Given the description of an element on the screen output the (x, y) to click on. 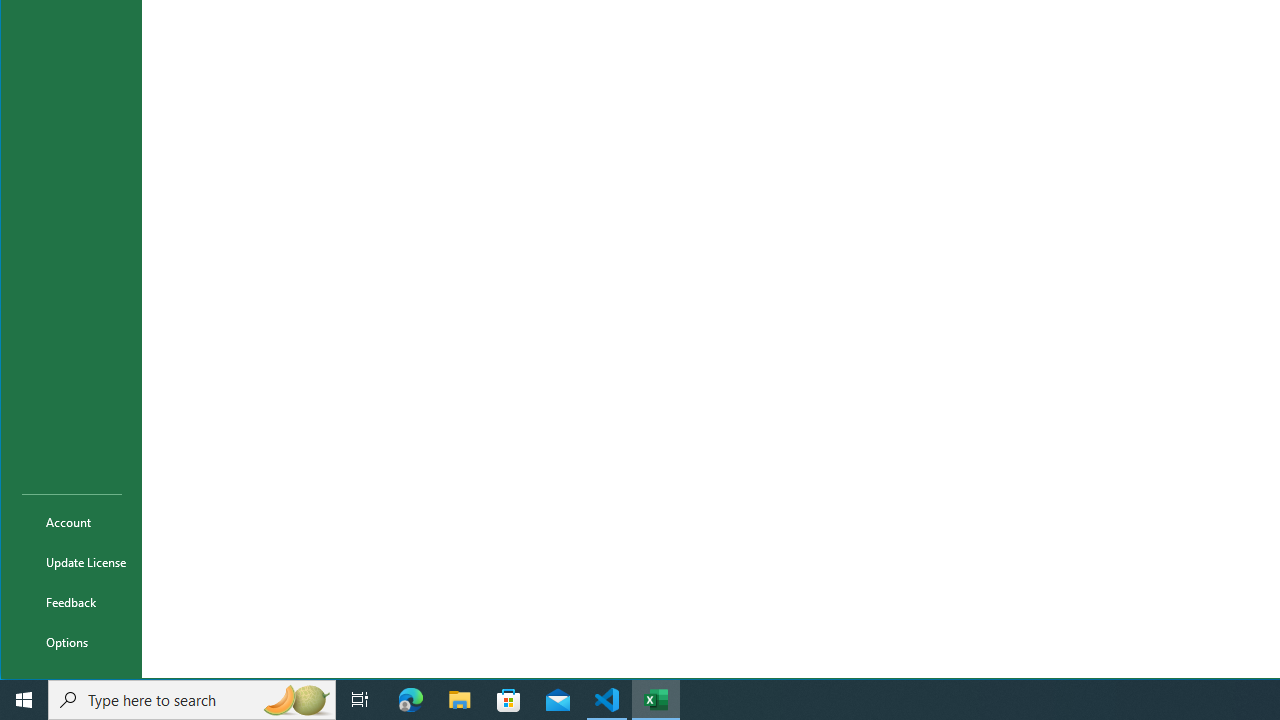
Feedback (72, 601)
Visual Studio Code - 1 running window (607, 699)
Microsoft Store (509, 699)
Excel - 1 running window (656, 699)
Update License (72, 561)
Microsoft Edge (411, 699)
Account (72, 521)
Type here to search (191, 699)
File Explorer (460, 699)
Search highlights icon opens search home window (295, 699)
Start (24, 699)
Options (72, 641)
Task View (359, 699)
